Given the description of an element on the screen output the (x, y) to click on. 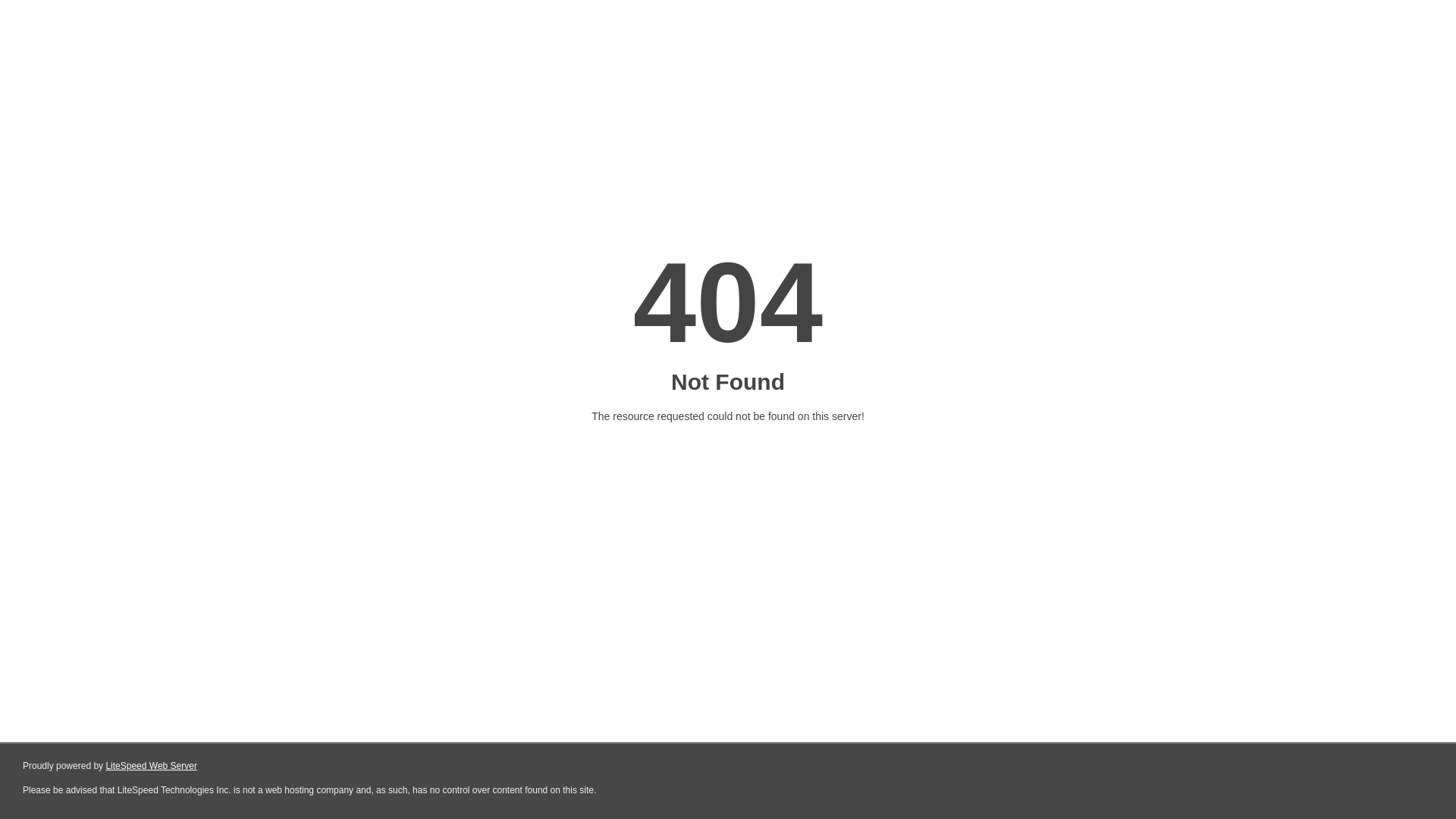
LiteSpeed Web Server Element type: text (151, 765)
